Given the description of an element on the screen output the (x, y) to click on. 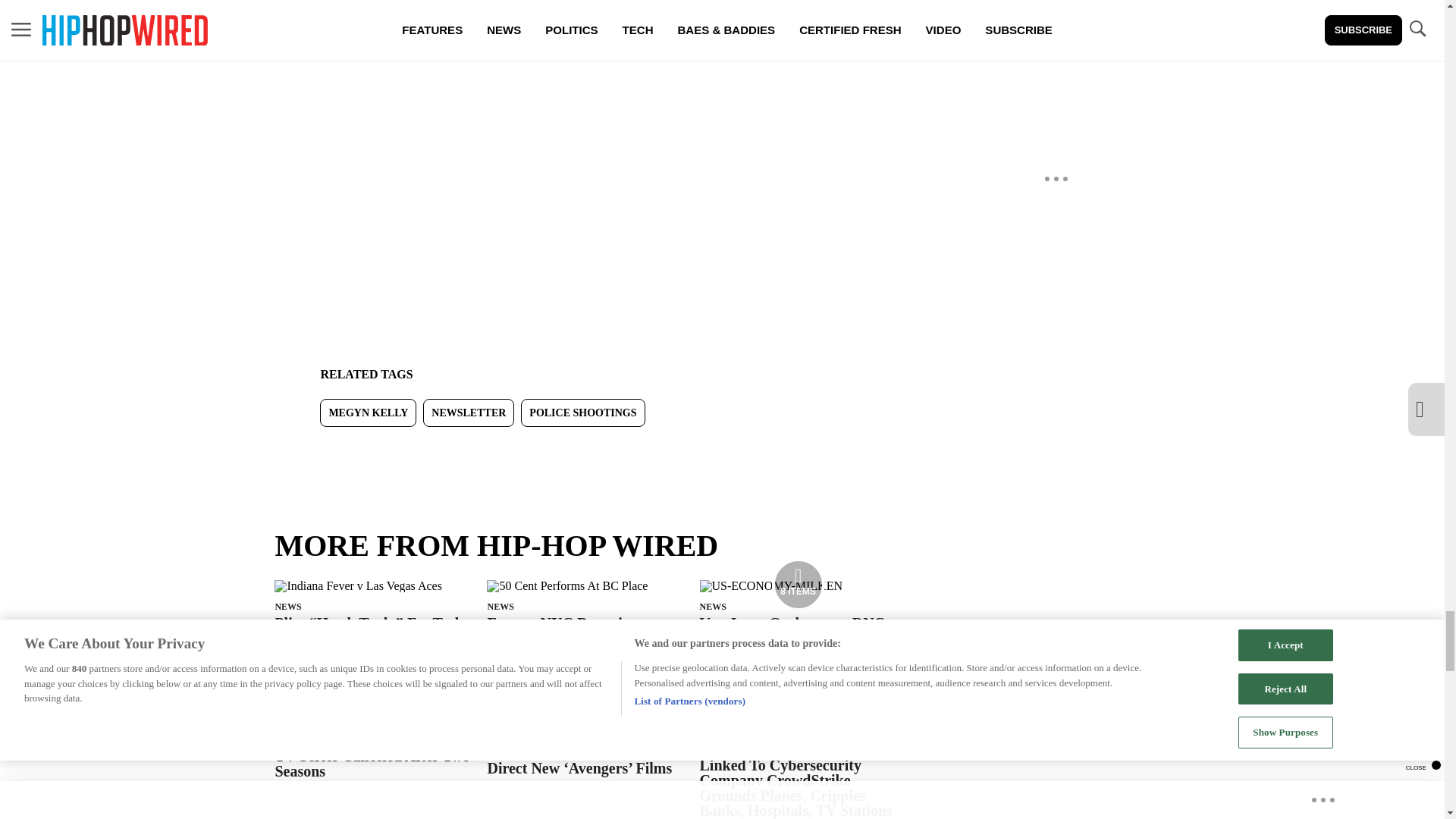
NEWS (499, 605)
MEGYN KELLY (368, 412)
Vuukle Sharebar Widget (585, 450)
GAMES (291, 708)
13 ITEMS (320, 686)
NEWS (499, 720)
POLICE SHOOTINGS (583, 412)
NEWS (288, 605)
Media Playlist (372, 686)
NEWSLETTER (468, 412)
8 ITEMS (771, 585)
Media Playlist (798, 583)
NEWS (713, 605)
Media Playlist (798, 697)
